Given the description of an element on the screen output the (x, y) to click on. 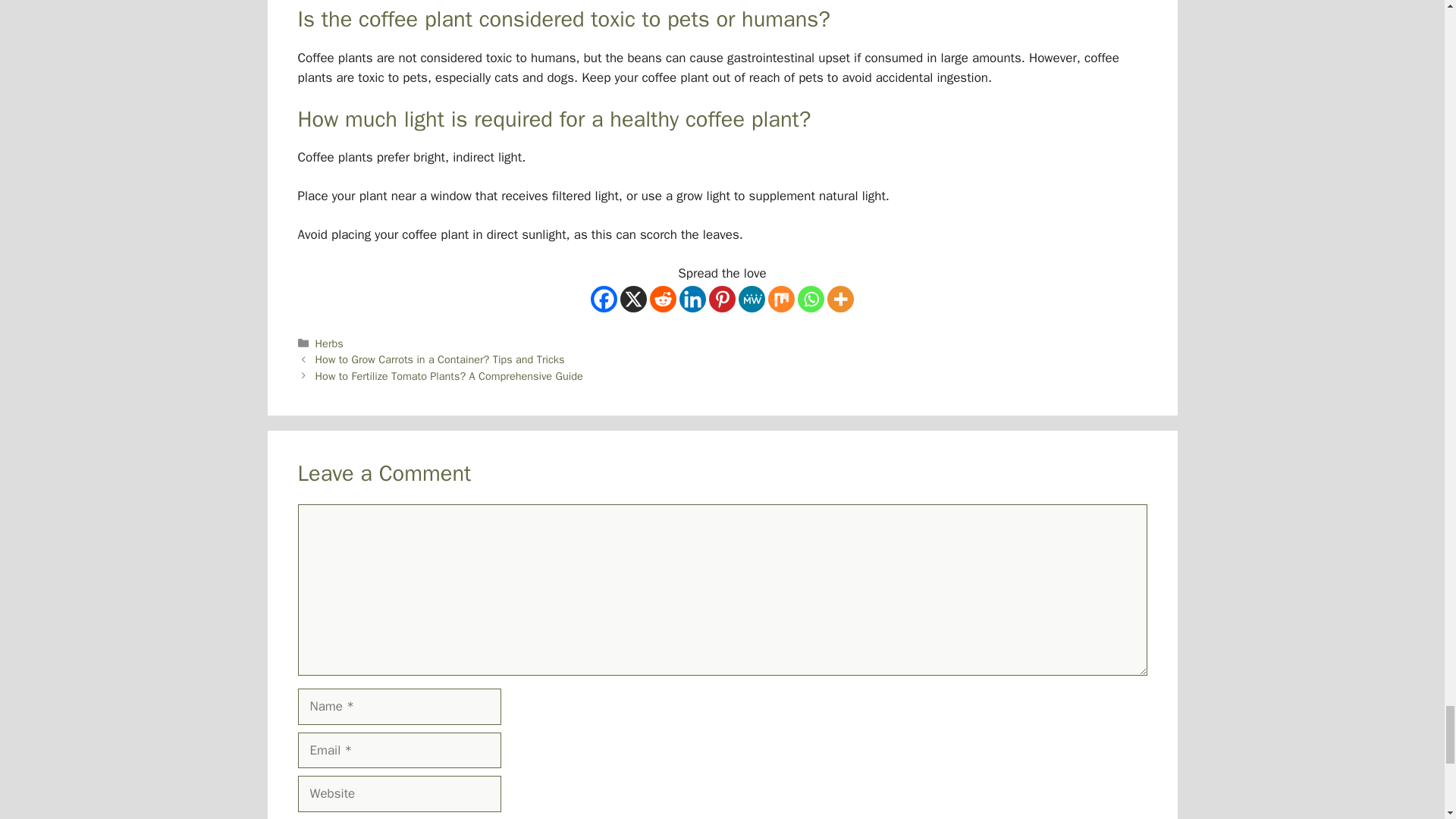
Mix (781, 298)
Reddit (663, 298)
Facebook (604, 298)
MeWe (751, 298)
Pinterest (722, 298)
Whatsapp (810, 298)
More (840, 298)
Linkedin (692, 298)
X (633, 298)
